Given the description of an element on the screen output the (x, y) to click on. 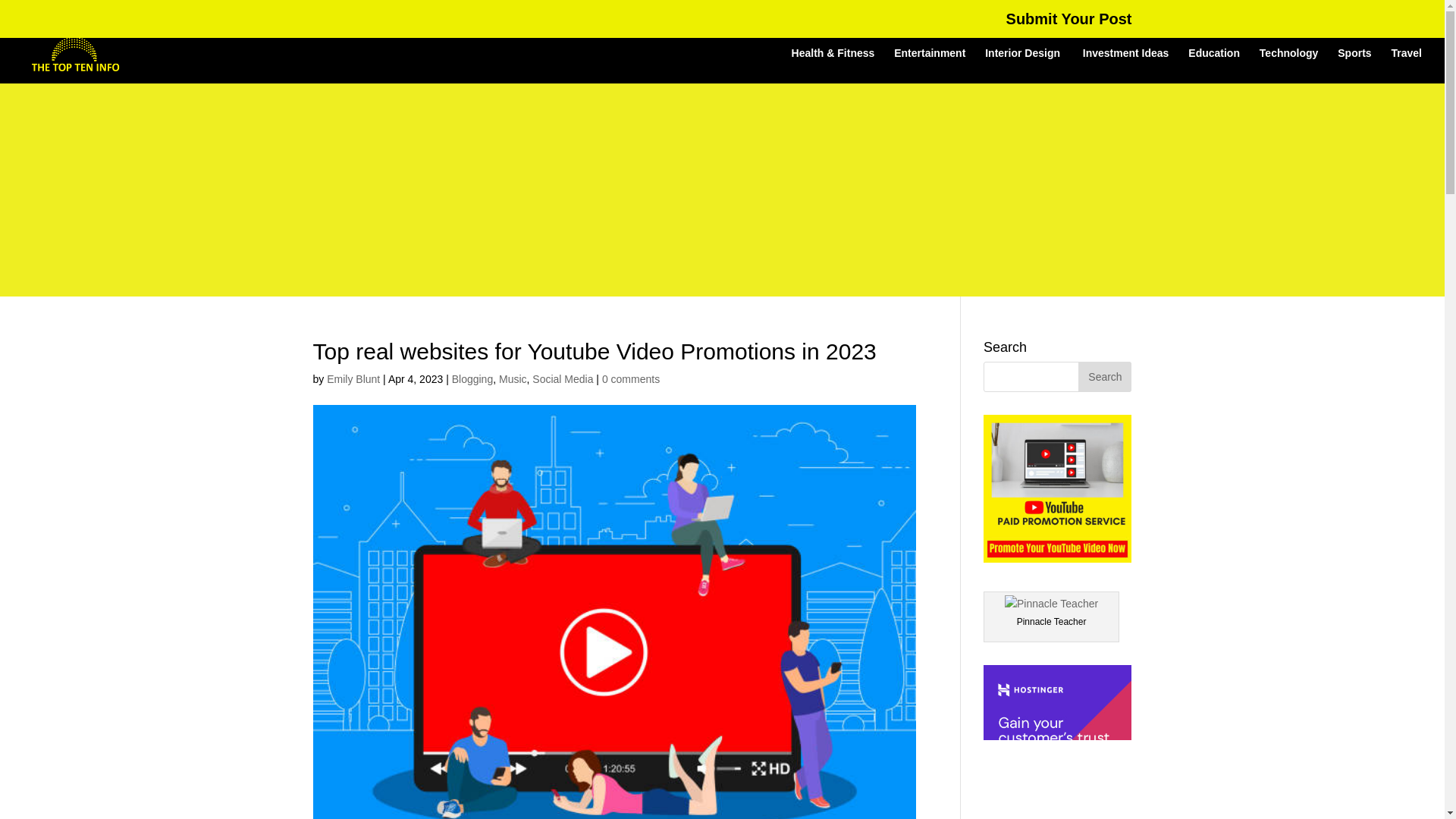
Search (1104, 376)
Sports (1354, 65)
0 comments (630, 378)
Blogging (472, 378)
Technology (1289, 65)
Posts by Emily Blunt (353, 378)
Music (513, 378)
Social Media (562, 378)
Entertainment (929, 65)
Search (1104, 376)
Submit Your Post (1069, 24)
Travel (1406, 65)
Investment Ideas (1126, 65)
Interior Design  (1023, 65)
Education (1214, 65)
